Given the description of an element on the screen output the (x, y) to click on. 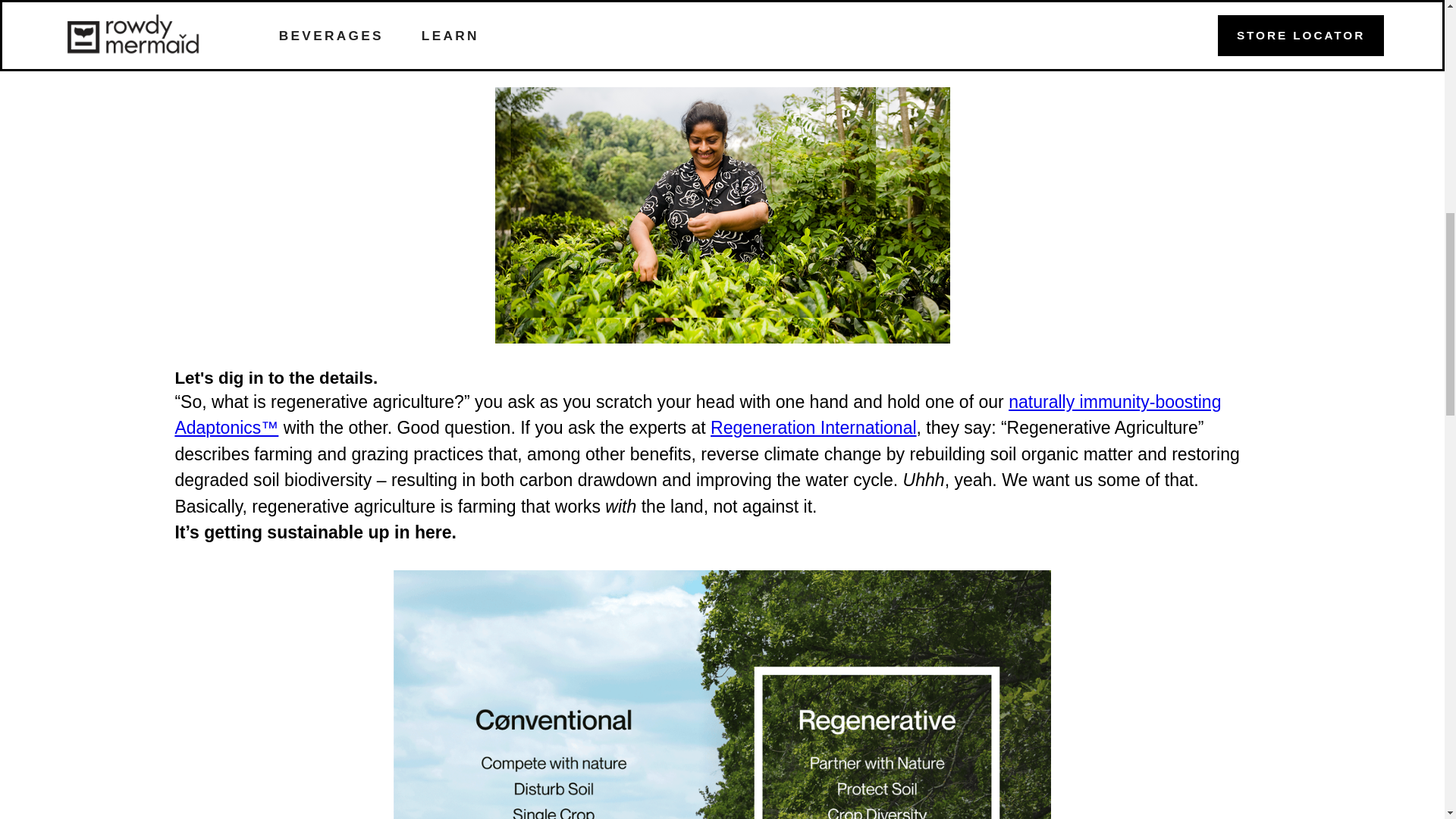
Regeneration International (812, 427)
